Given the description of an element on the screen output the (x, y) to click on. 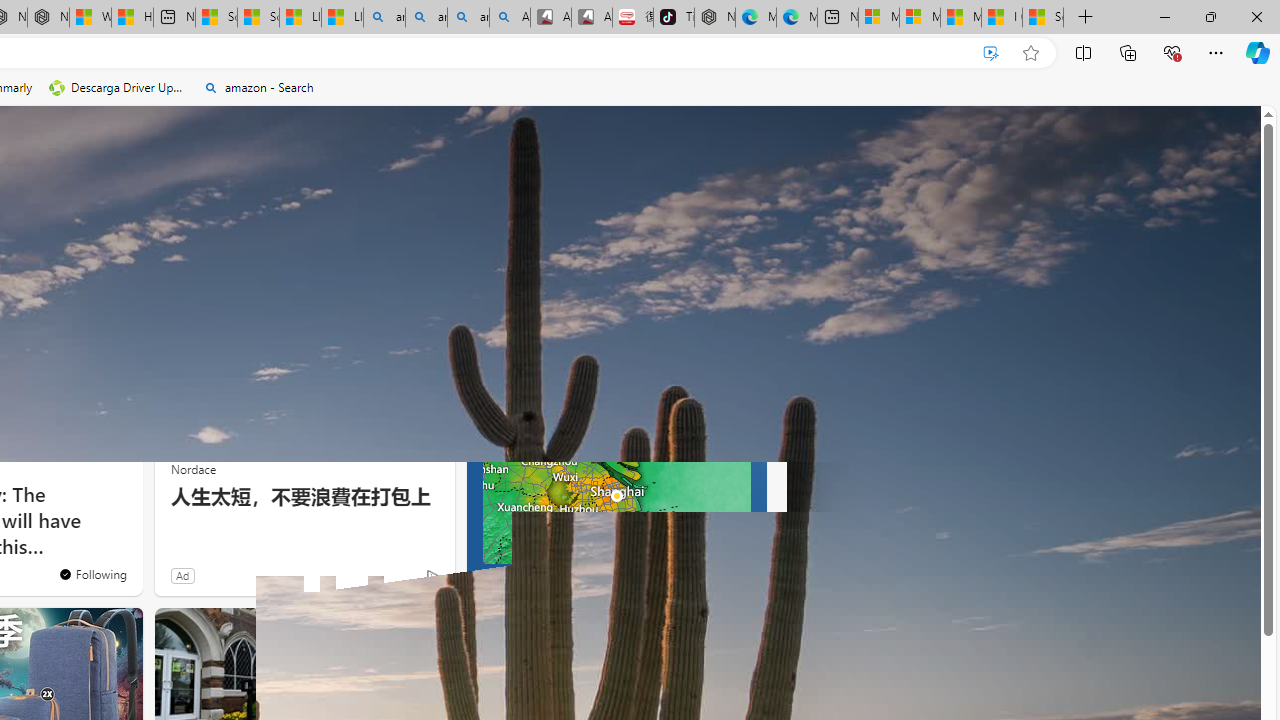
Hourly (511, 411)
Larger map  (616, 495)
Settings and more (Alt+F) (1215, 52)
Hide this story (82, 315)
Moderate air quality (744, 367)
Health (33, 267)
Nordace (193, 468)
Nordace - Best Sellers (714, 17)
Open Copilot (347, 138)
